Given the description of an element on the screen output the (x, y) to click on. 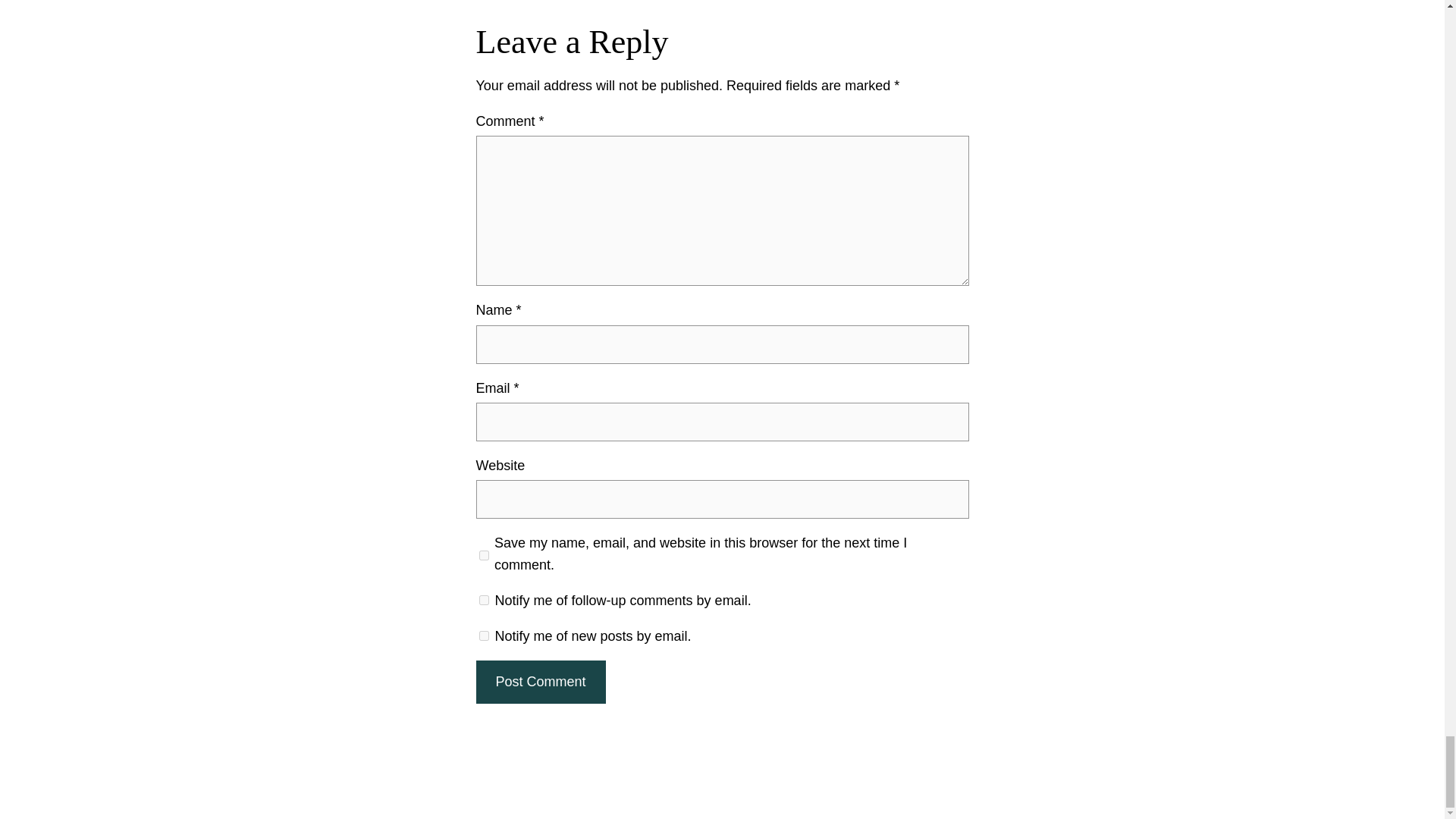
Post Comment (540, 681)
subscribe (484, 634)
subscribe (484, 600)
